Given the description of an element on the screen output the (x, y) to click on. 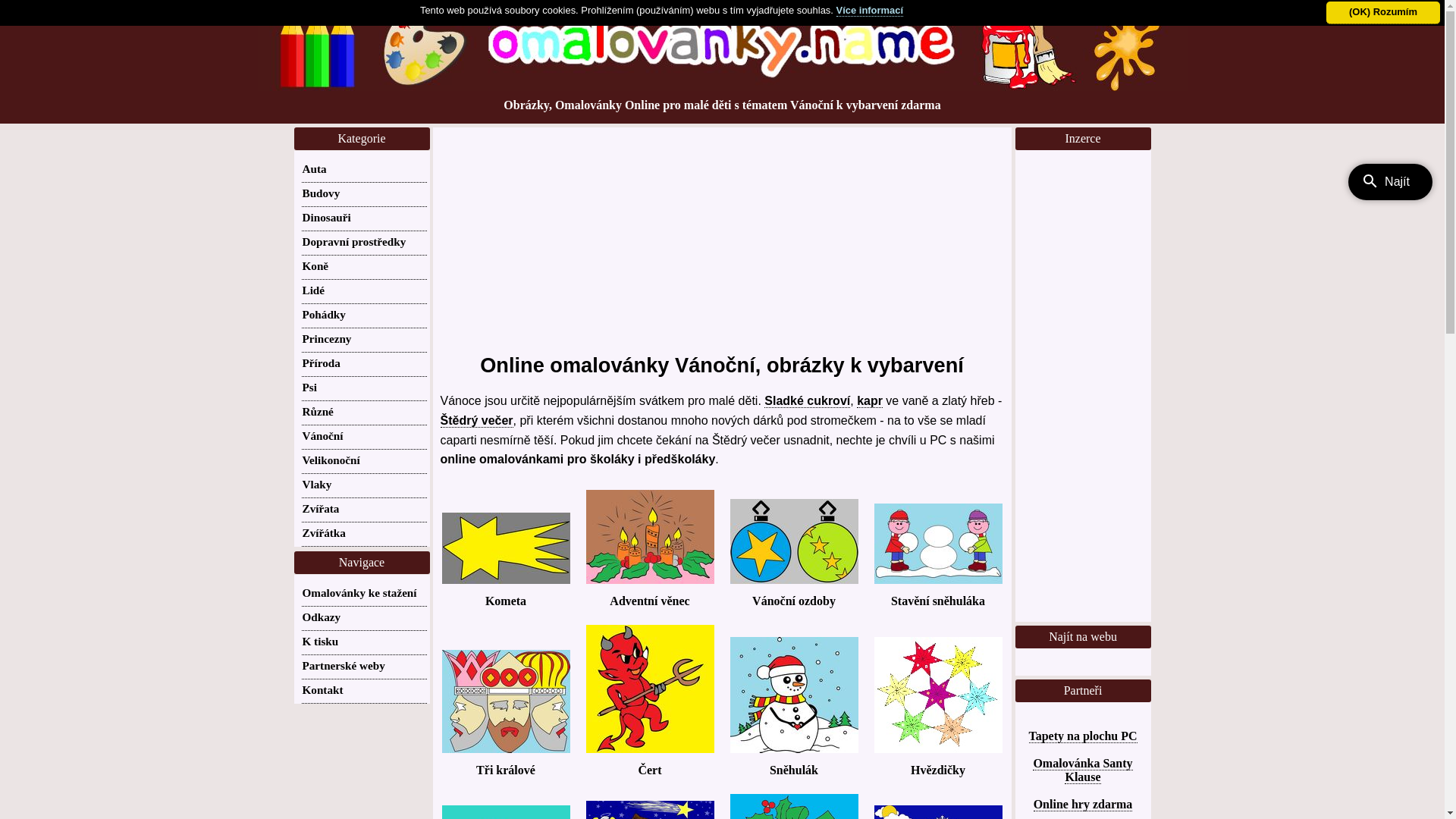
Budovy Element type: text (320, 192)
Kometa Element type: hover (505, 551)
Princezny Element type: text (326, 338)
Kometa Element type: text (505, 560)
Advertisement Element type: hover (1082, 390)
Advertisement Element type: hover (721, 233)
Auta Element type: text (313, 168)
Kontakt Element type: text (321, 689)
Online hry zdarma Element type: text (1082, 804)
Vlaky Element type: text (316, 483)
kapr Element type: text (869, 400)
K tisku Element type: text (319, 640)
Tapety na plochu PC Element type: text (1082, 736)
Psi Element type: text (308, 386)
Odkazy Element type: text (320, 616)
